Given the description of an element on the screen output the (x, y) to click on. 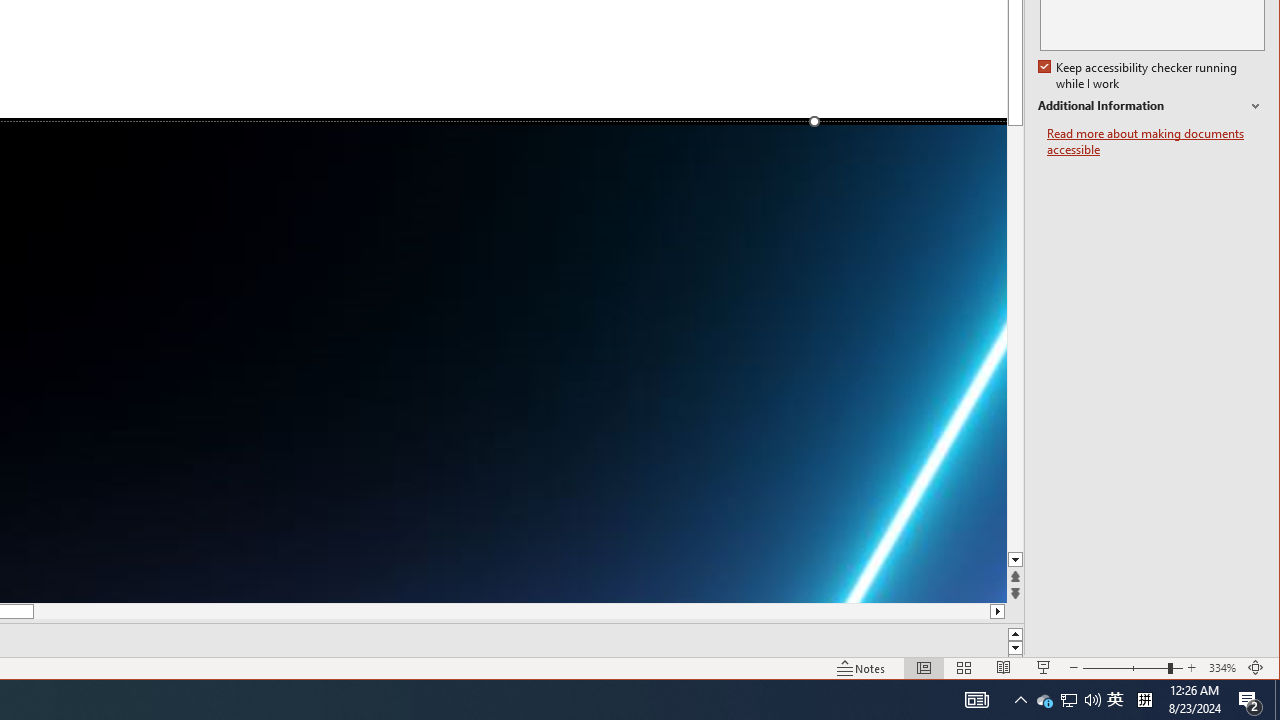
Additional Information (1151, 106)
Read more about making documents accessible (1155, 142)
